Given the description of an element on the screen output the (x, y) to click on. 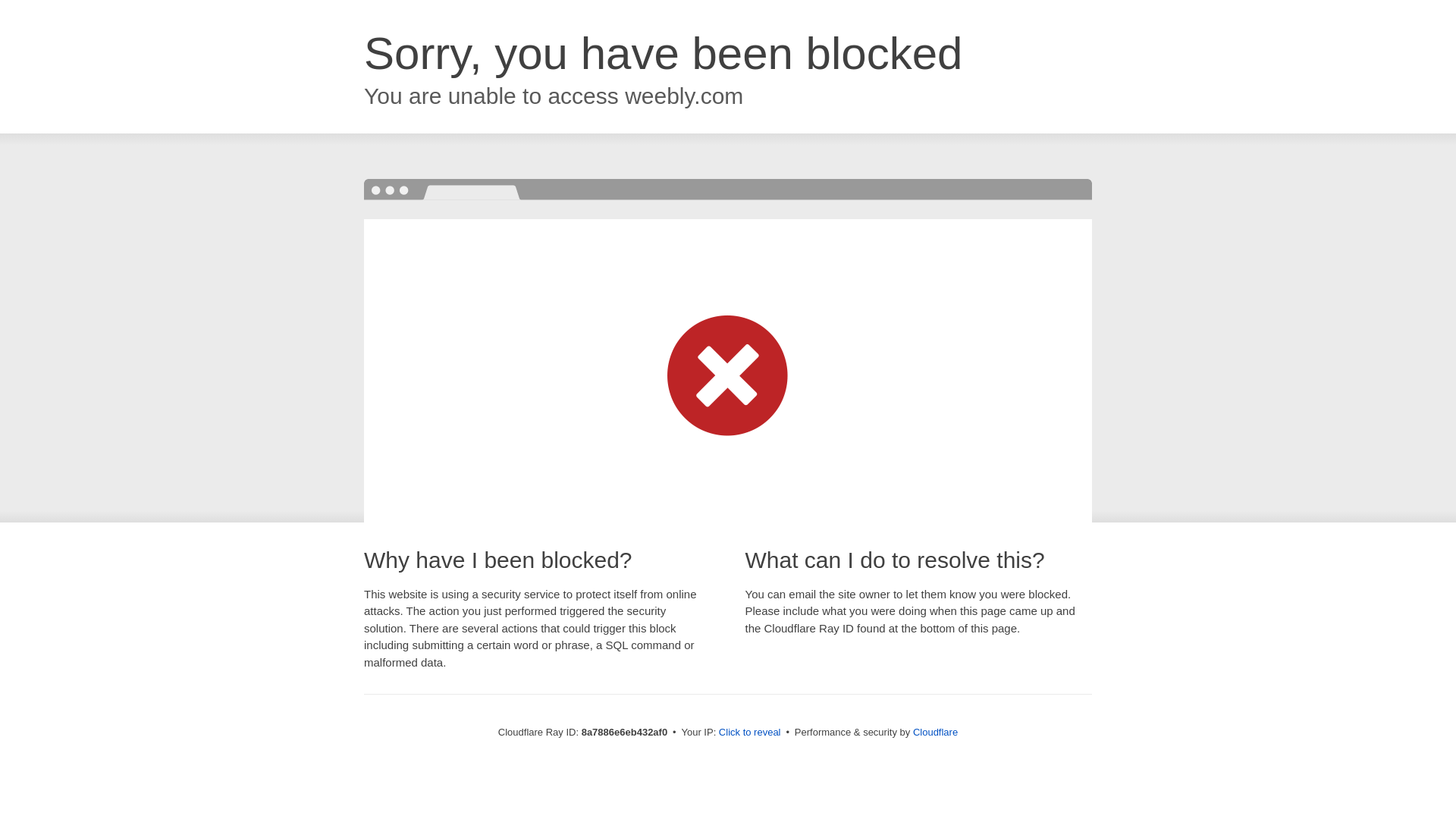
Cloudflare (935, 731)
Click to reveal (749, 732)
